Given the description of an element on the screen output the (x, y) to click on. 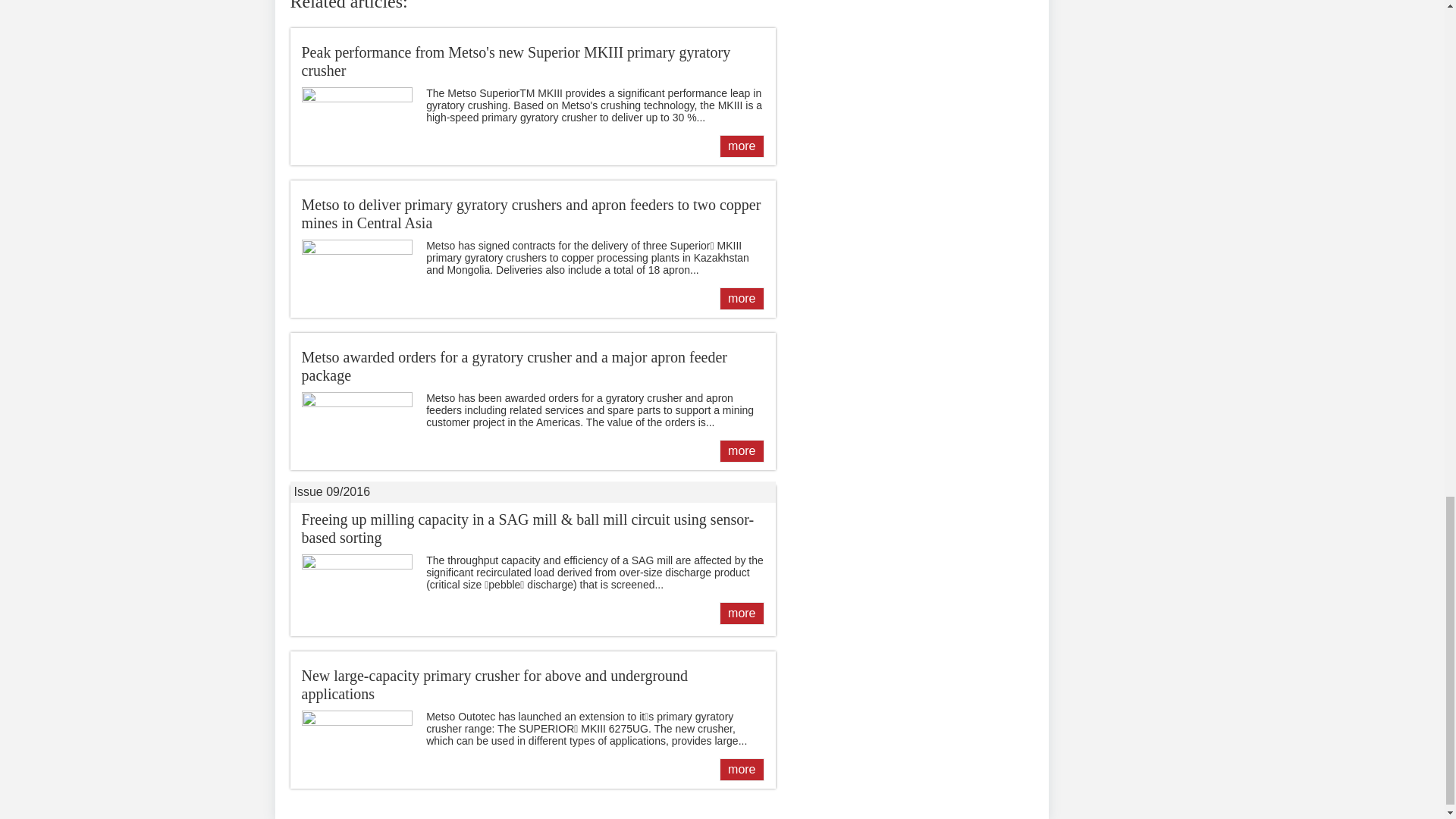
more (740, 146)
